Given the description of an element on the screen output the (x, y) to click on. 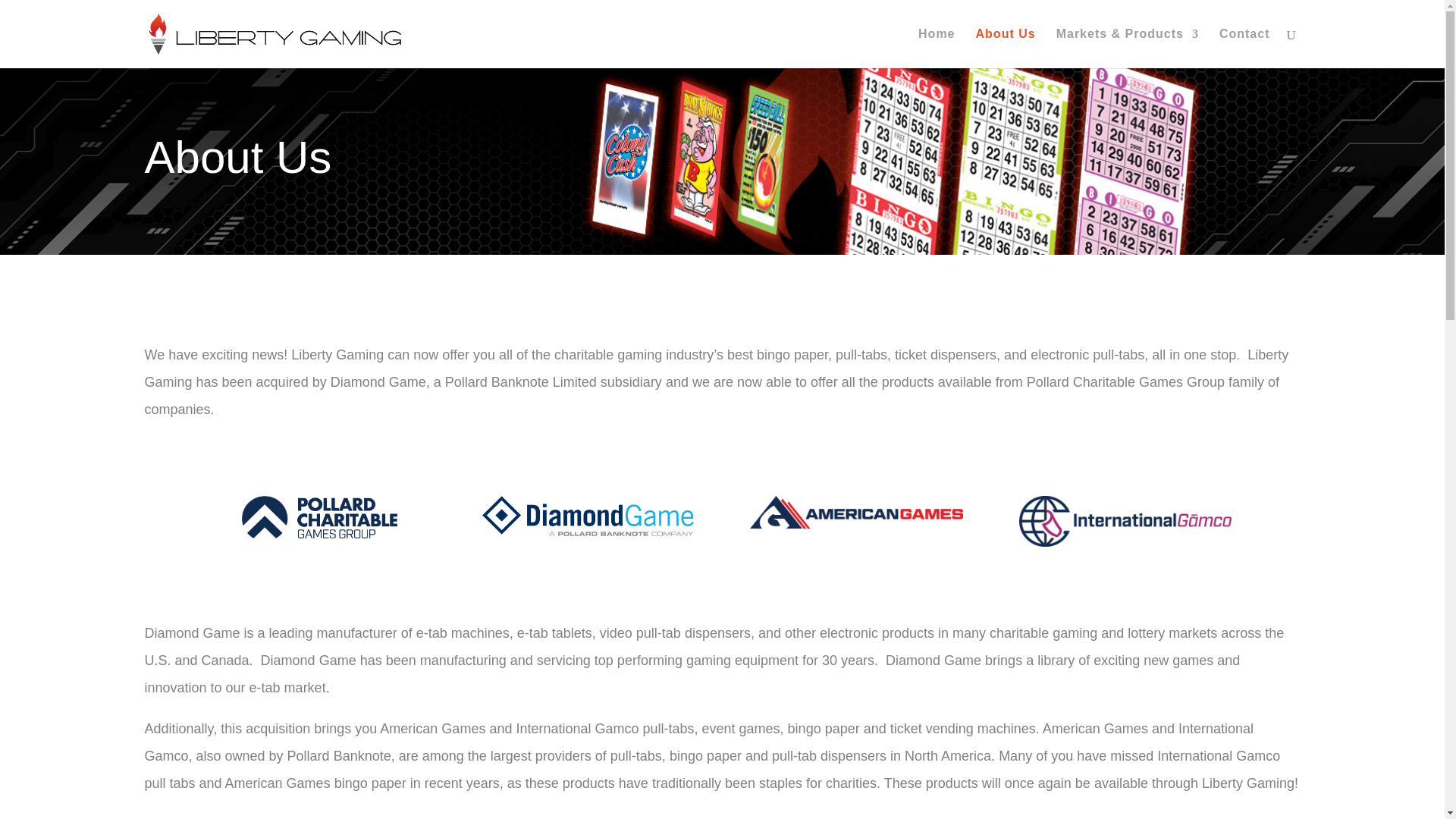
Pollard Charitable Games Group Logo Logo (319, 517)
Home (936, 47)
About Us (1005, 47)
Diamond Game Logo (587, 516)
AG Logo (855, 512)
Contact (1244, 47)
